Given the description of an element on the screen output the (x, y) to click on. 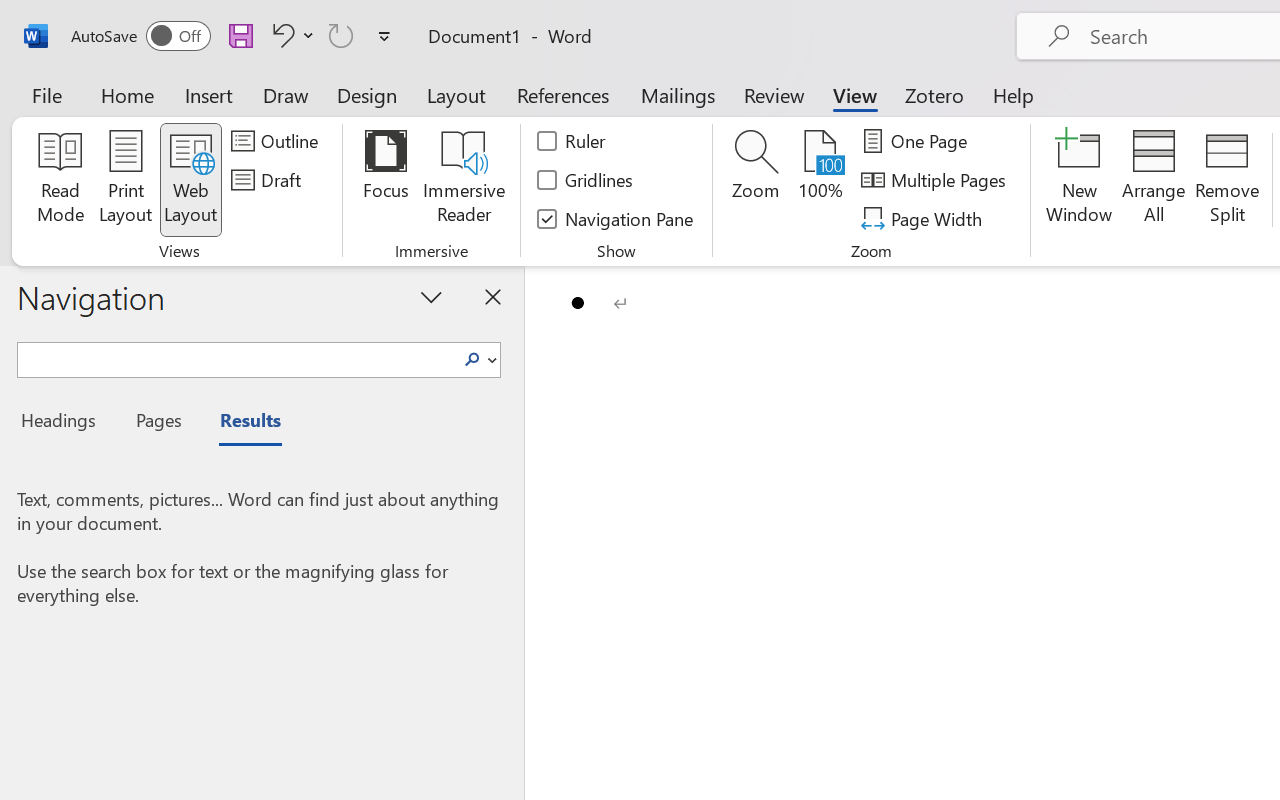
Page Width (924, 218)
New Window (1079, 179)
Results (240, 423)
Can't Repeat (341, 35)
Remove Split (1227, 179)
Navigation Pane (616, 218)
